Given the description of an element on the screen output the (x, y) to click on. 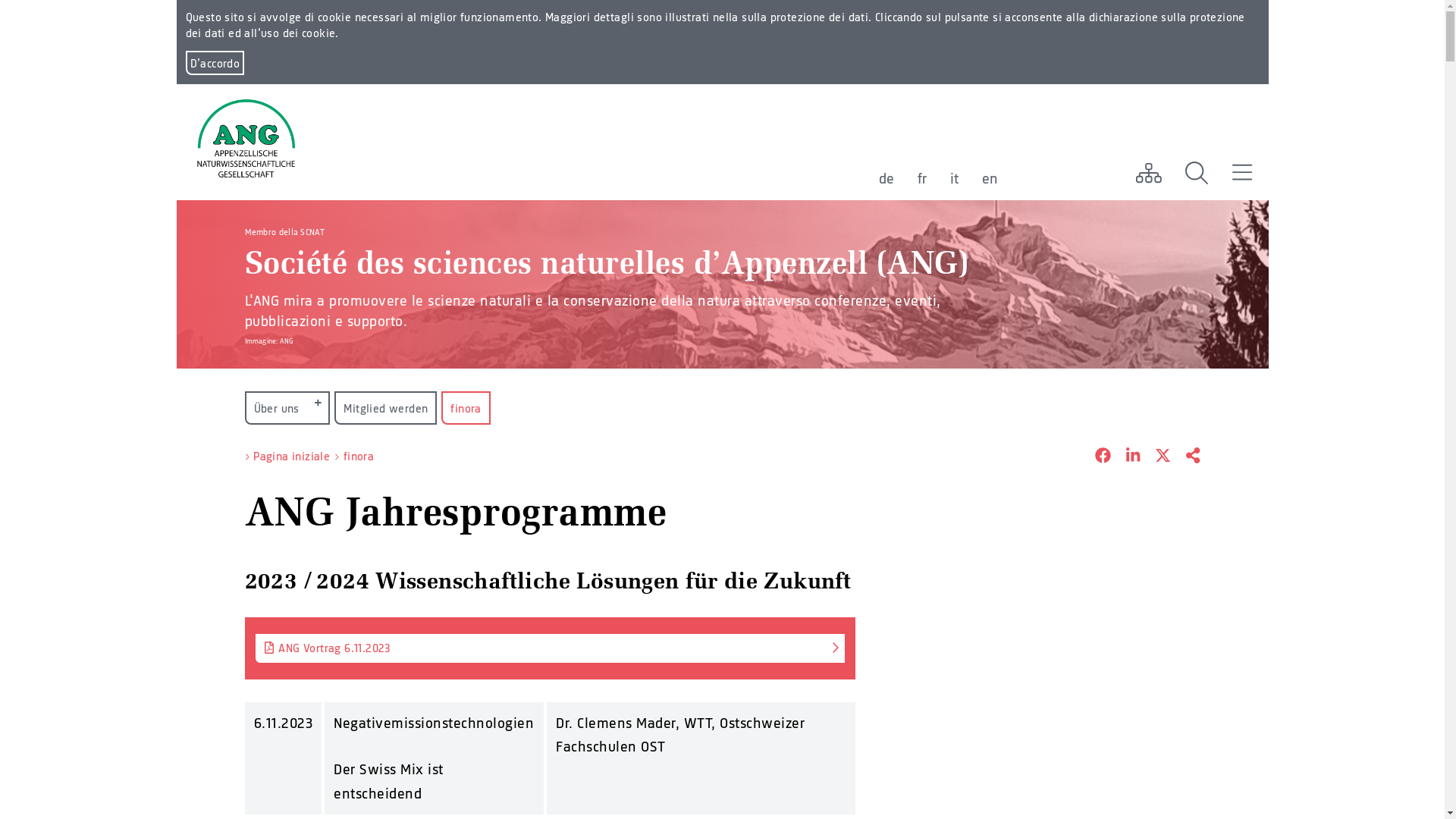
it Element type: text (953, 178)
fr Element type: text (922, 178)
Pagina iniziale Element type: text (291, 456)
en Element type: text (989, 178)
Rete Element type: hover (1147, 172)
finora Element type: text (465, 407)
Condividi su Facebook Element type: hover (1094, 456)
ANG Vortrag 6.11.2023 Element type: text (549, 647)
Condividi su LinkedIn Element type: hover (1124, 456)
Mitglied werden Element type: text (385, 407)
Ricercare Element type: hover (1196, 172)
finora Element type: text (358, 456)
Condividi su X Element type: hover (1154, 456)
de Element type: text (886, 178)
protezione dei dati Element type: text (819, 16)
Condividi come link breve Element type: hover (1184, 456)
Membro della SCNAT Element type: text (283, 230)
Menu Element type: hover (1241, 172)
